Given the description of an element on the screen output the (x, y) to click on. 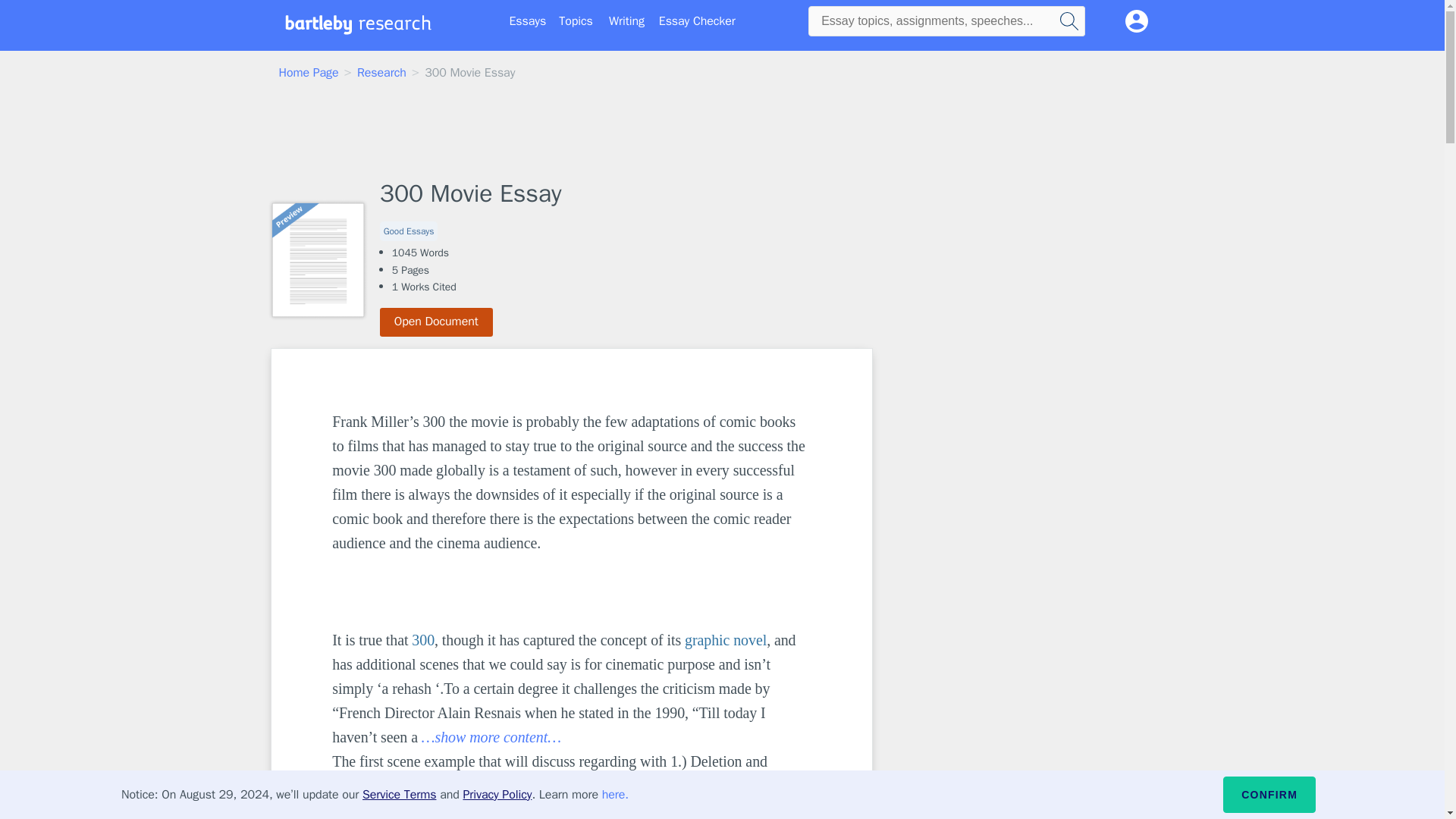
graphic novel (725, 639)
Home Page (309, 72)
300 (422, 639)
Writing (626, 20)
Essays (528, 20)
Topics (575, 20)
film (706, 785)
Open Document (436, 321)
Essay Checker (697, 20)
Research (381, 72)
